Given the description of an element on the screen output the (x, y) to click on. 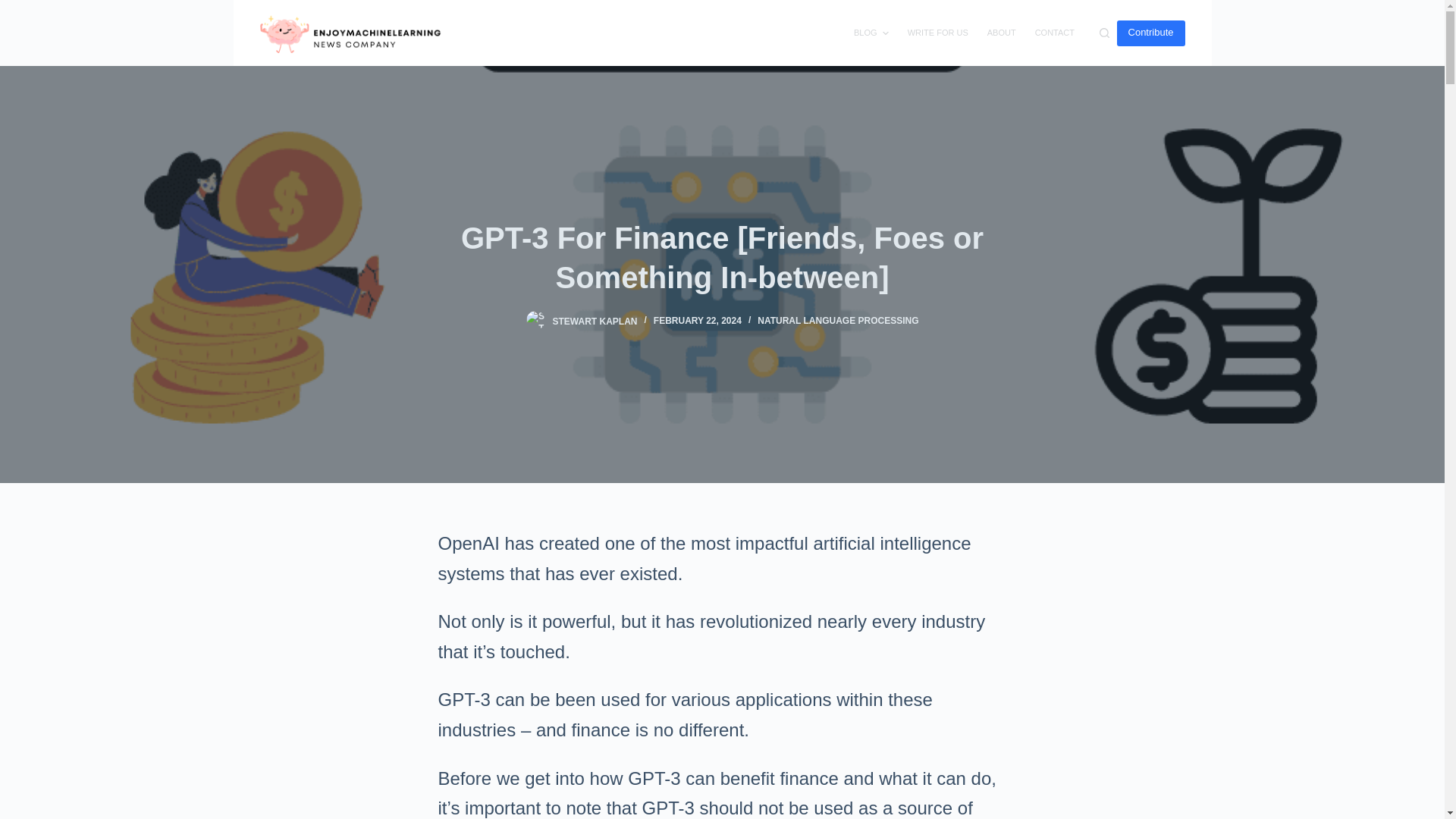
STEWART KAPLAN (594, 320)
Posts by Stewart Kaplan (594, 320)
Contribute (1150, 32)
Skip to content (15, 7)
WRITE FOR US (937, 33)
NATURAL LANGUAGE PROCESSING (837, 320)
